Given the description of an element on the screen output the (x, y) to click on. 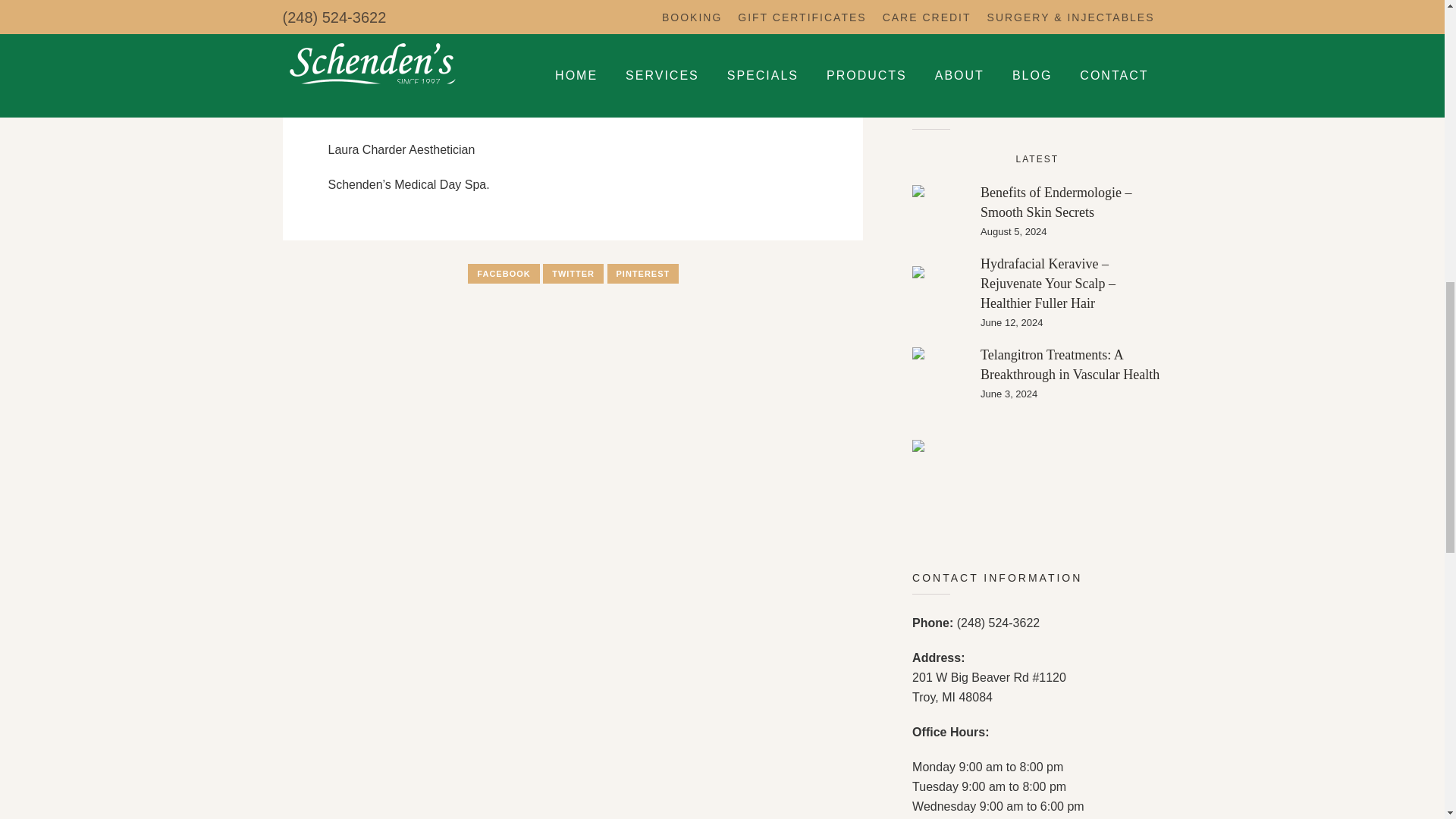
June 12, 2024 (1070, 322)
Telangitron Treatments: A Breakthrough in Vascular Health (938, 372)
FACEBOOK (502, 273)
Endermologie (938, 211)
Telangitron Treatments: A Breakthrough in Vascular Health (1068, 364)
August 5, 2024 (1070, 231)
TWITTER (573, 273)
PINTEREST (642, 273)
Telangitron Treatments (938, 373)
June 3, 2024 (1070, 394)
